Given the description of an element on the screen output the (x, y) to click on. 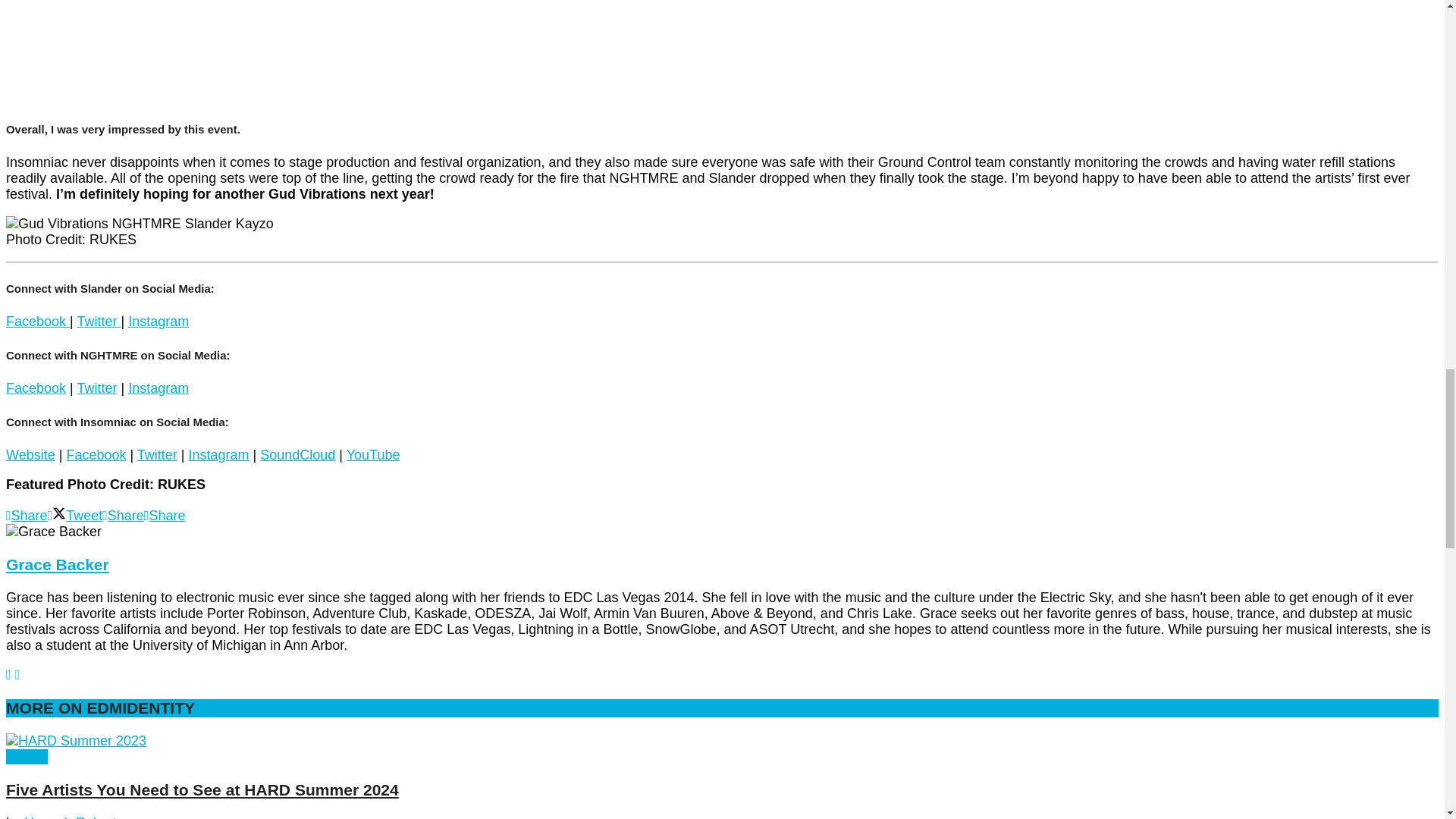
Instagram (158, 321)
Twitter (96, 387)
Facebook (37, 321)
Facebook (95, 454)
Twitter (98, 321)
Facebook (35, 387)
Instagram (158, 387)
Website (30, 454)
